Given the description of an element on the screen output the (x, y) to click on. 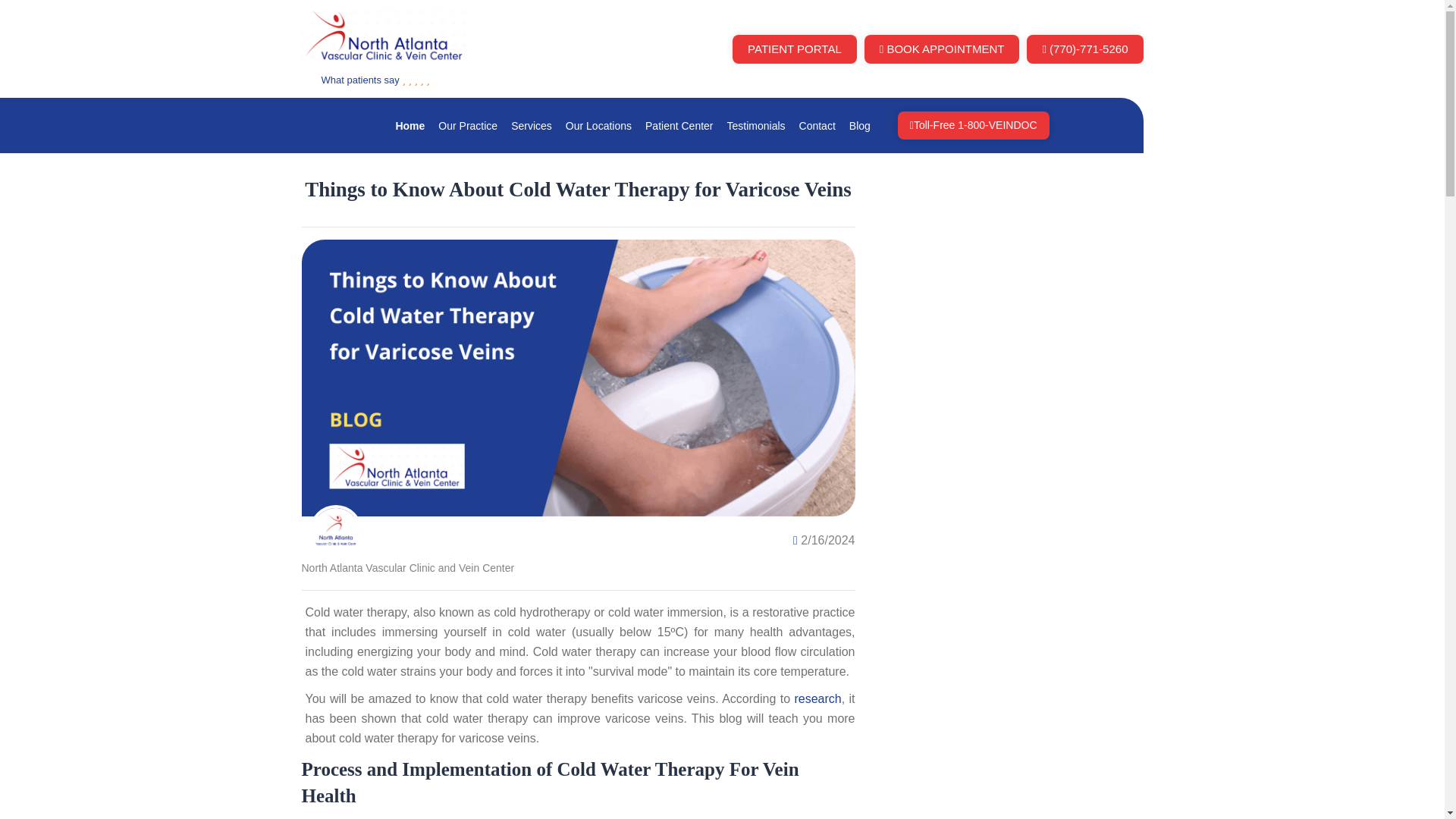
Patient Center (679, 125)
Contact (817, 125)
PATIENT PORTAL (794, 49)
Blog (859, 125)
research (817, 698)
BOOK APPOINTMENT (942, 49)
Services (531, 125)
Our Locations (598, 125)
Our Practice (467, 125)
